Given the description of an element on the screen output the (x, y) to click on. 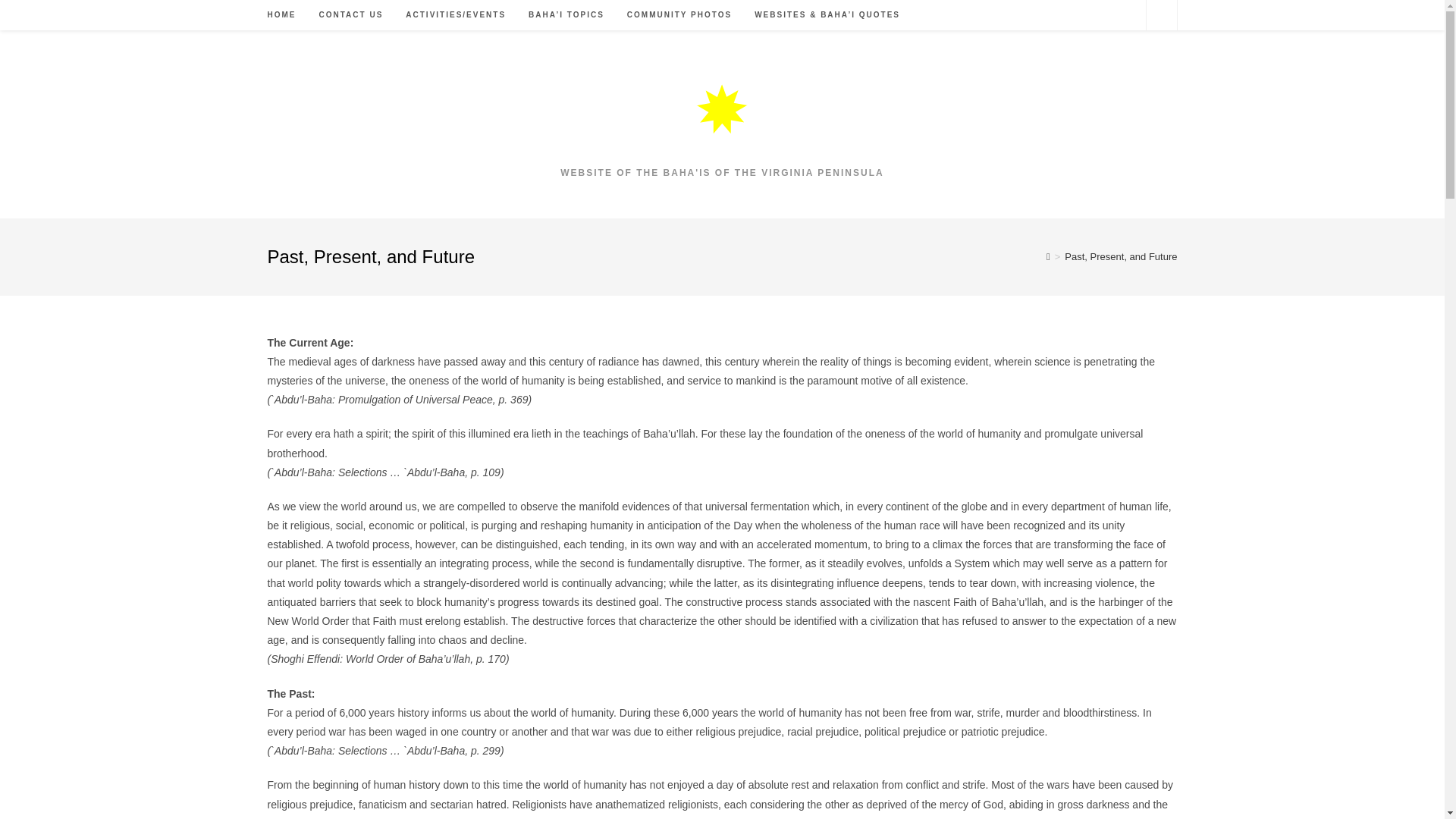
HOME (281, 15)
COMMUNITY PHOTOS (678, 15)
Past, Present, and Future (1120, 256)
CONTACT US (350, 15)
